Given the description of an element on the screen output the (x, y) to click on. 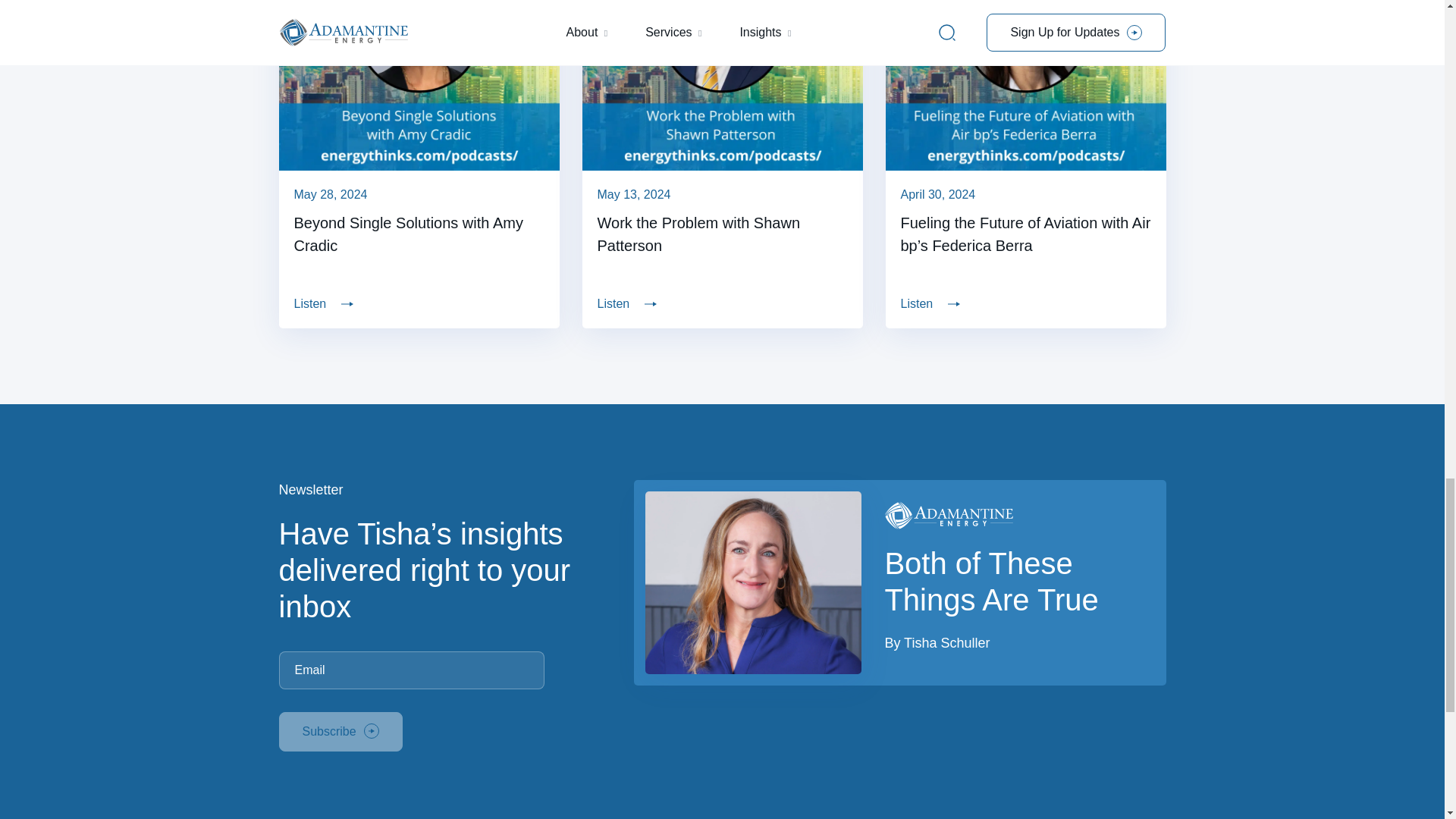
Work the Problem with Shawn Patterson (722, 234)
Listen (419, 303)
Listen (722, 303)
Listen (1025, 303)
Beyond Single Solutions with Amy Cradic (419, 234)
